Given the description of an element on the screen output the (x, y) to click on. 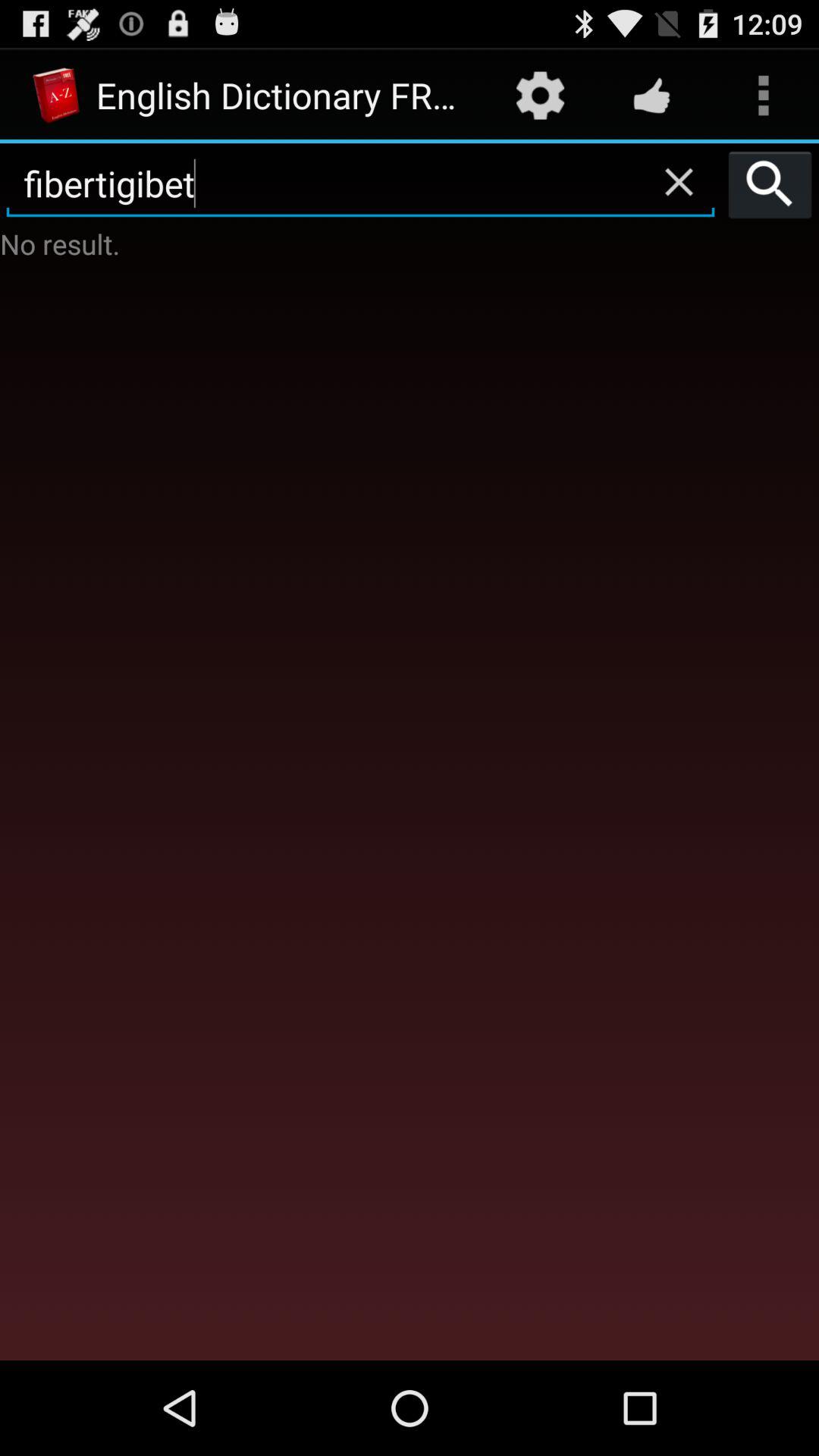
press icon next to english dictionary free icon (540, 95)
